Given the description of an element on the screen output the (x, y) to click on. 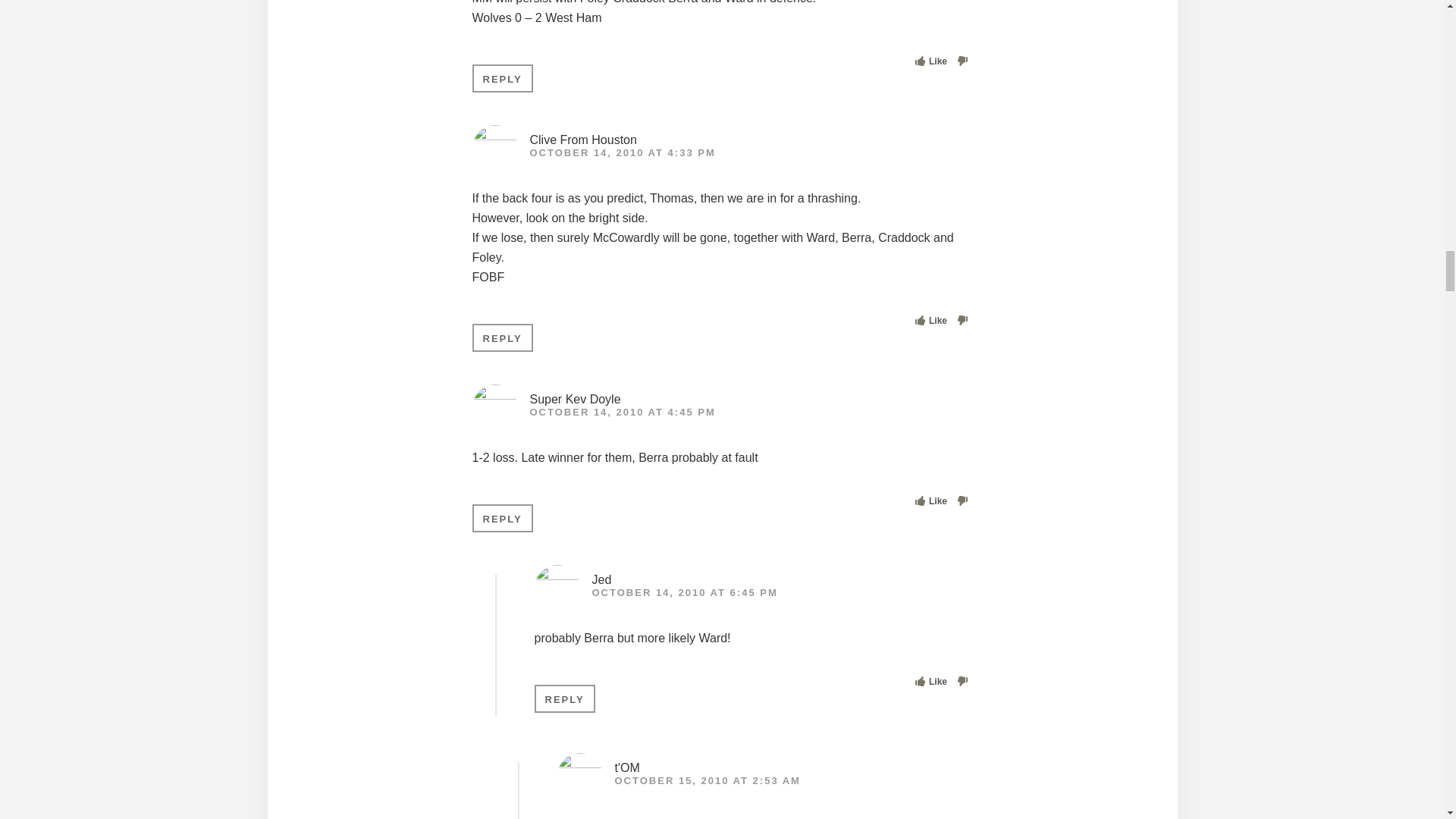
OCTOBER 14, 2010 AT 4:33 PM (621, 152)
REPLY (501, 78)
OCTOBER 14, 2010 AT 4:45 PM (621, 411)
REPLY (564, 698)
REPLY (501, 337)
OCTOBER 14, 2010 AT 6:45 PM (684, 592)
OCTOBER 15, 2010 AT 2:53 AM (706, 780)
REPLY (501, 518)
